Given the description of an element on the screen output the (x, y) to click on. 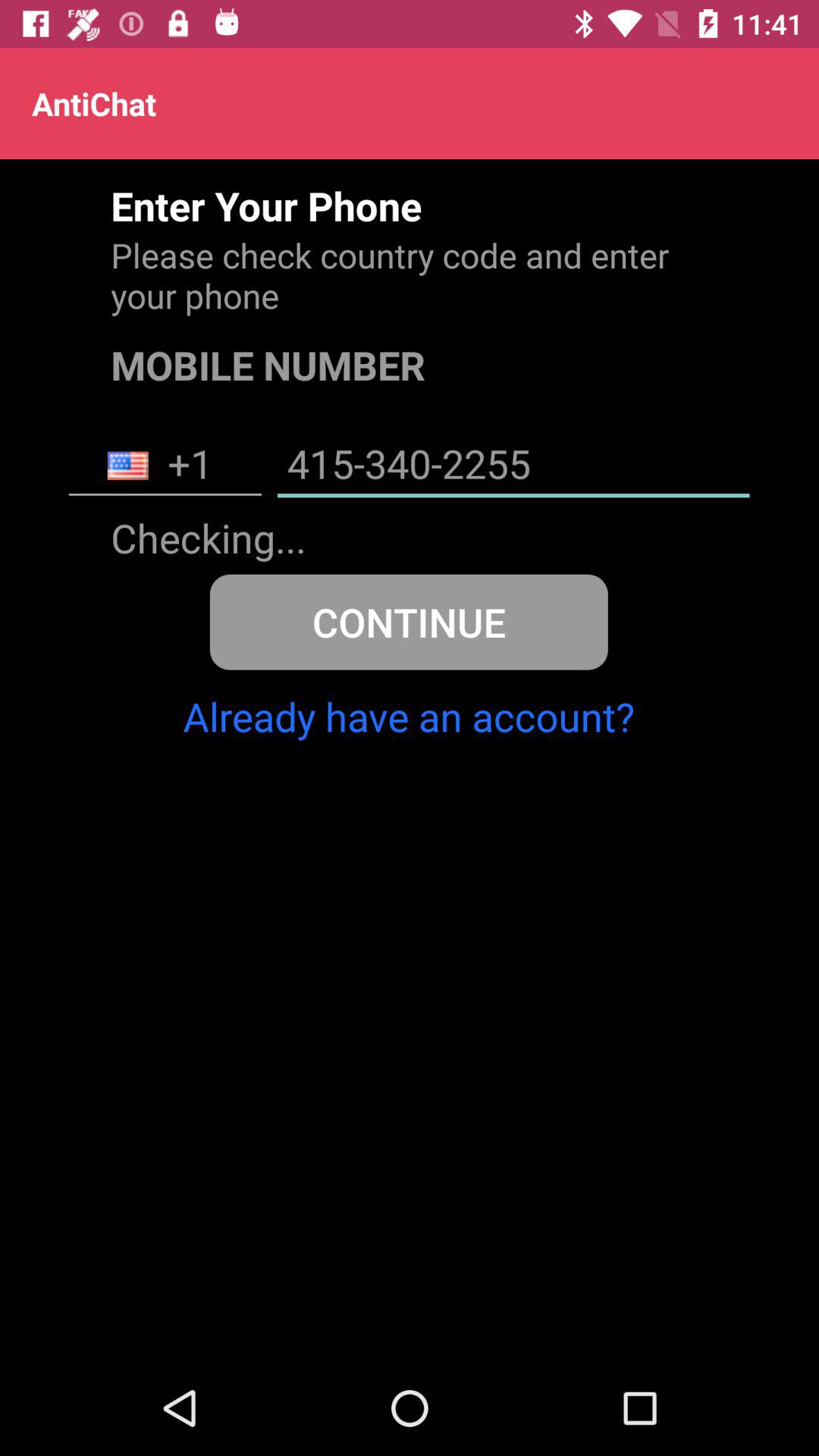
turn on item to the left of  415-340-2255 icon (164, 466)
